Given the description of an element on the screen output the (x, y) to click on. 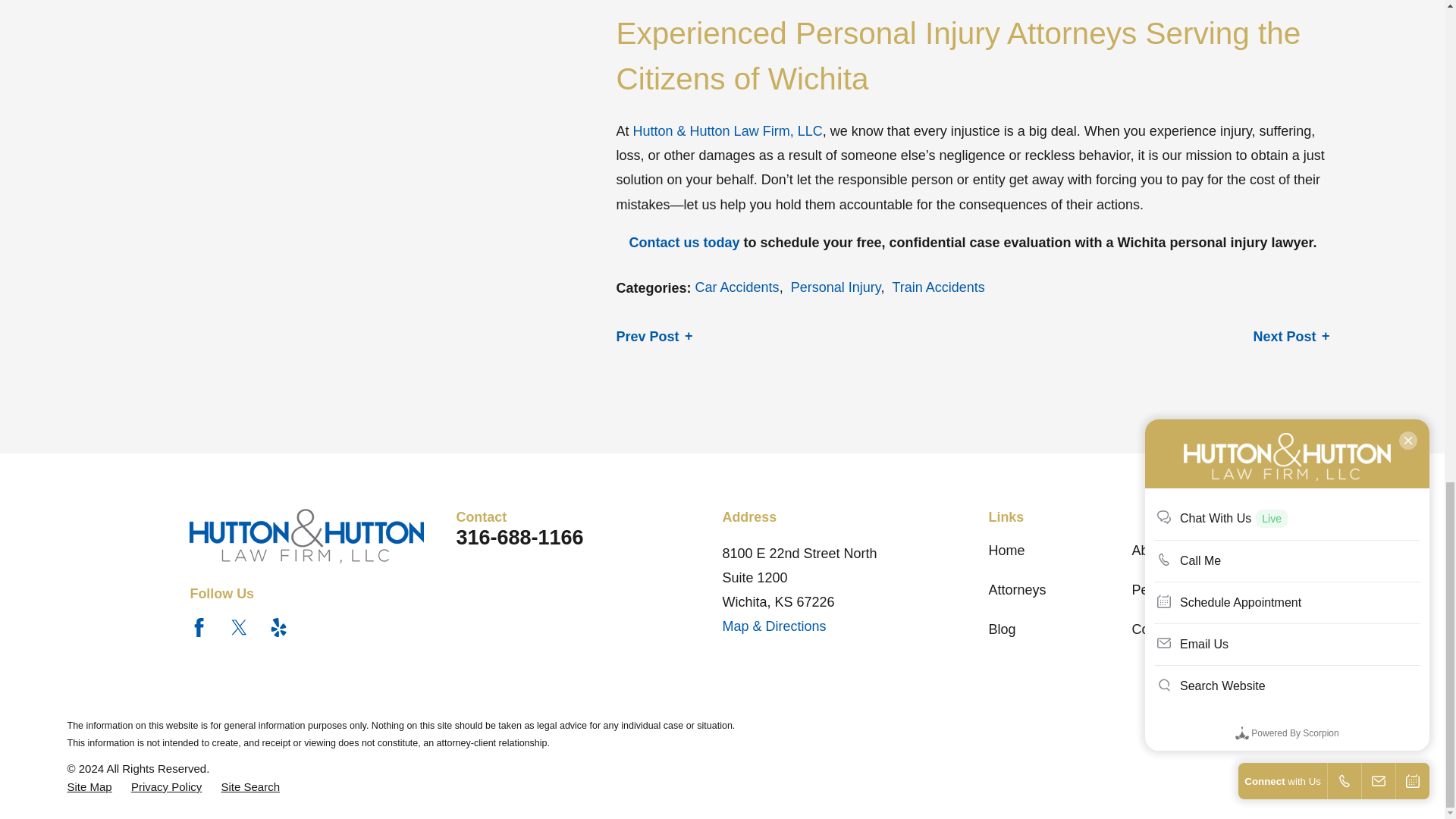
Facebook (198, 627)
Twitter (239, 627)
Home (322, 535)
Yelp (278, 627)
